Given the description of an element on the screen output the (x, y) to click on. 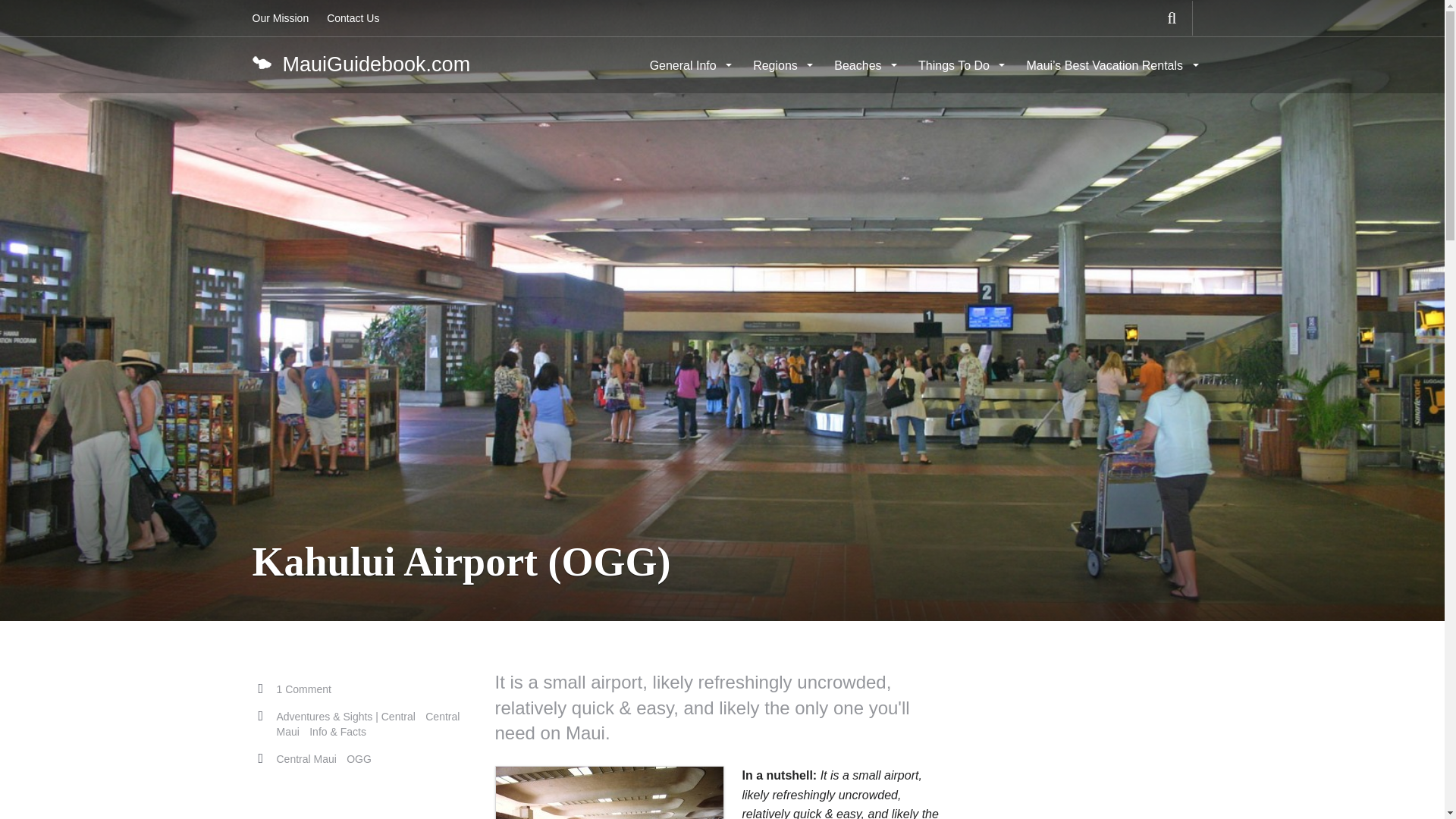
General Info (689, 64)
Our Mission (280, 18)
Regions (781, 64)
 MauiGuidebook.com (359, 63)
Beaches (863, 64)
Contact Us (352, 18)
Kahului Airport, OGG, Maui, Hawaii (609, 792)
Maui Guidebook (359, 63)
Things To Do (959, 64)
